Given the description of an element on the screen output the (x, y) to click on. 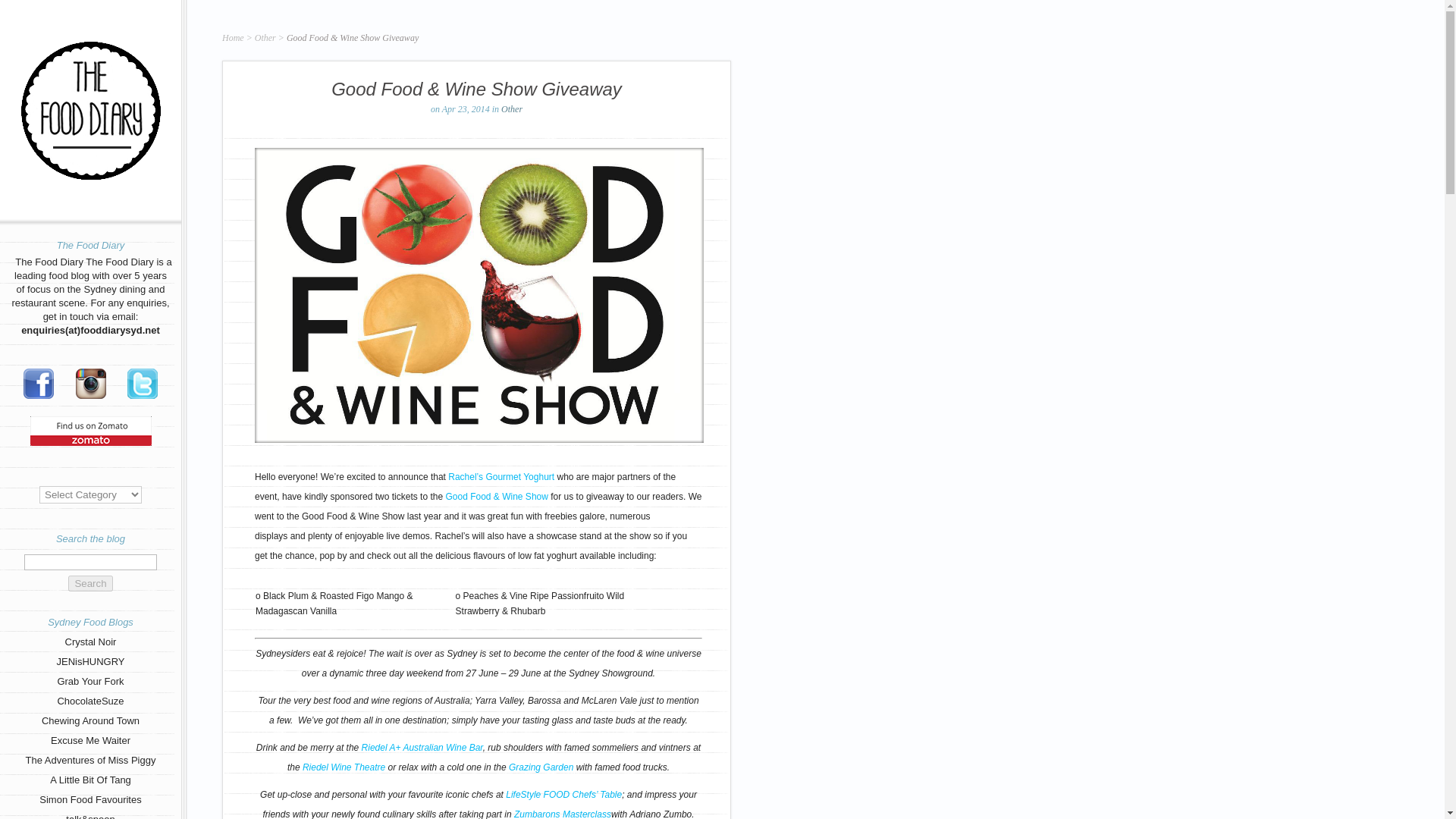
JENisHUNGRY (89, 661)
Home (233, 37)
Other (265, 37)
Crystal Noir (90, 641)
Grazing Garden (540, 767)
Chewing Around Town (90, 720)
Excuse Me Waiter (90, 740)
Grab Your Fork (89, 681)
Search (90, 583)
Riedel Wine Theatre (343, 767)
Simon Food Favourites (90, 799)
A Little Bit Of Tang (90, 779)
Search (90, 583)
ChocolateSuze (89, 700)
The Adventures of Miss Piggy (90, 759)
